Given the description of an element on the screen output the (x, y) to click on. 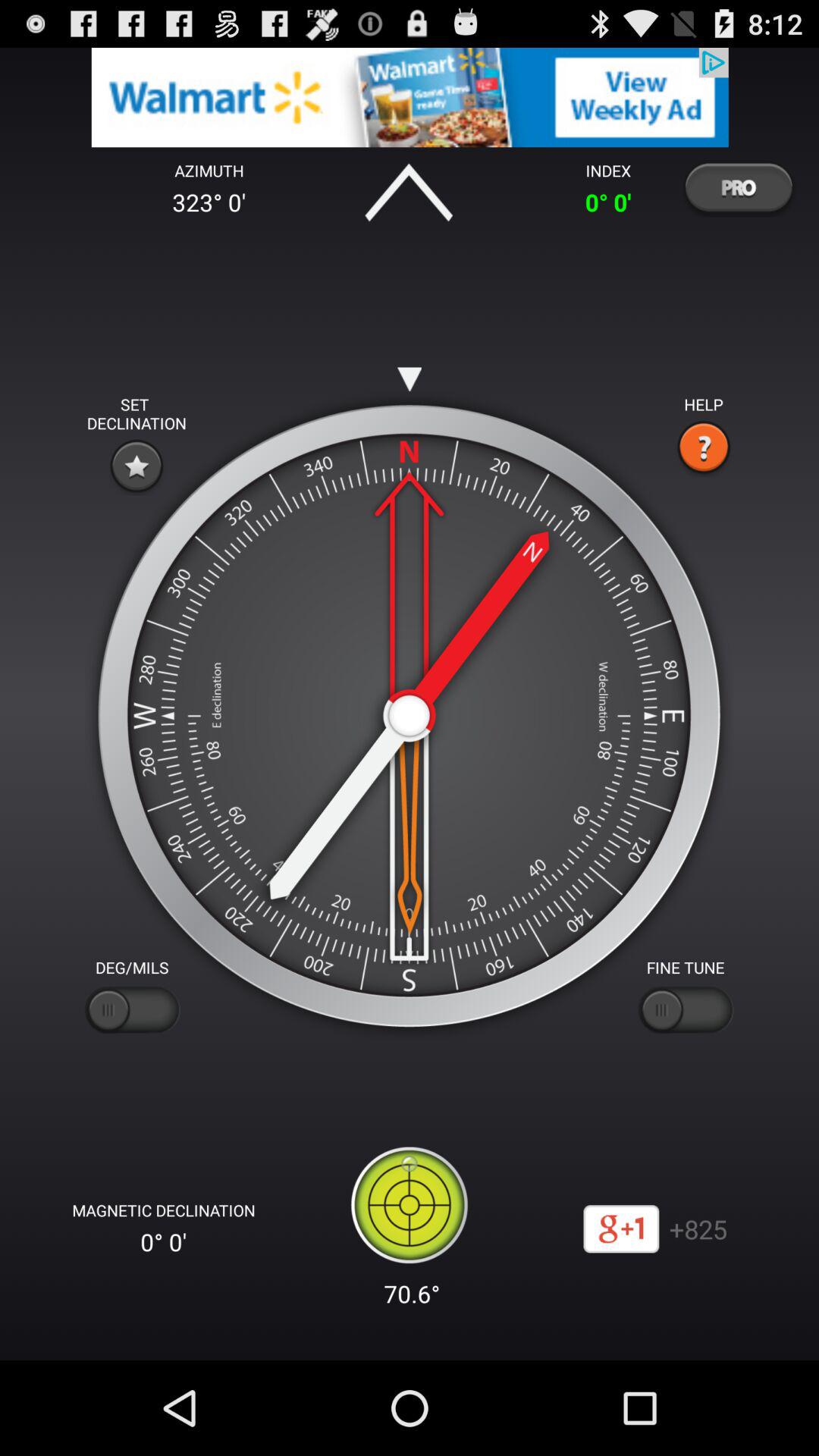
view advertisement (409, 97)
